Given the description of an element on the screen output the (x, y) to click on. 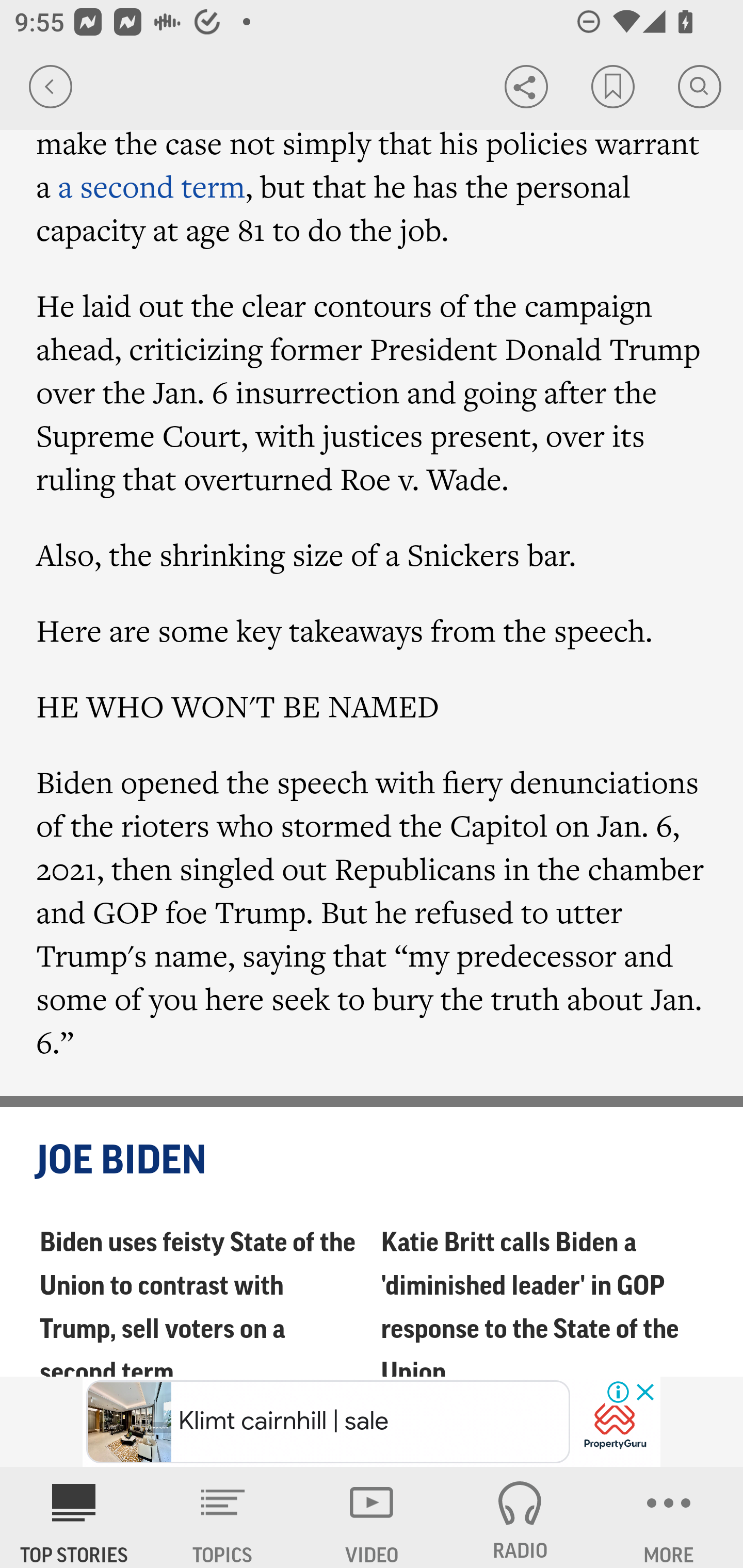
a second term (151, 186)
JOE BIDEN (372, 1161)
Klimt cairnhill | sale (327, 1421)
for-sale-klimt-cairnhill (615, 1422)
AP News TOP STORIES (74, 1517)
TOPICS (222, 1517)
VIDEO (371, 1517)
RADIO (519, 1517)
MORE (668, 1517)
